Given the description of an element on the screen output the (x, y) to click on. 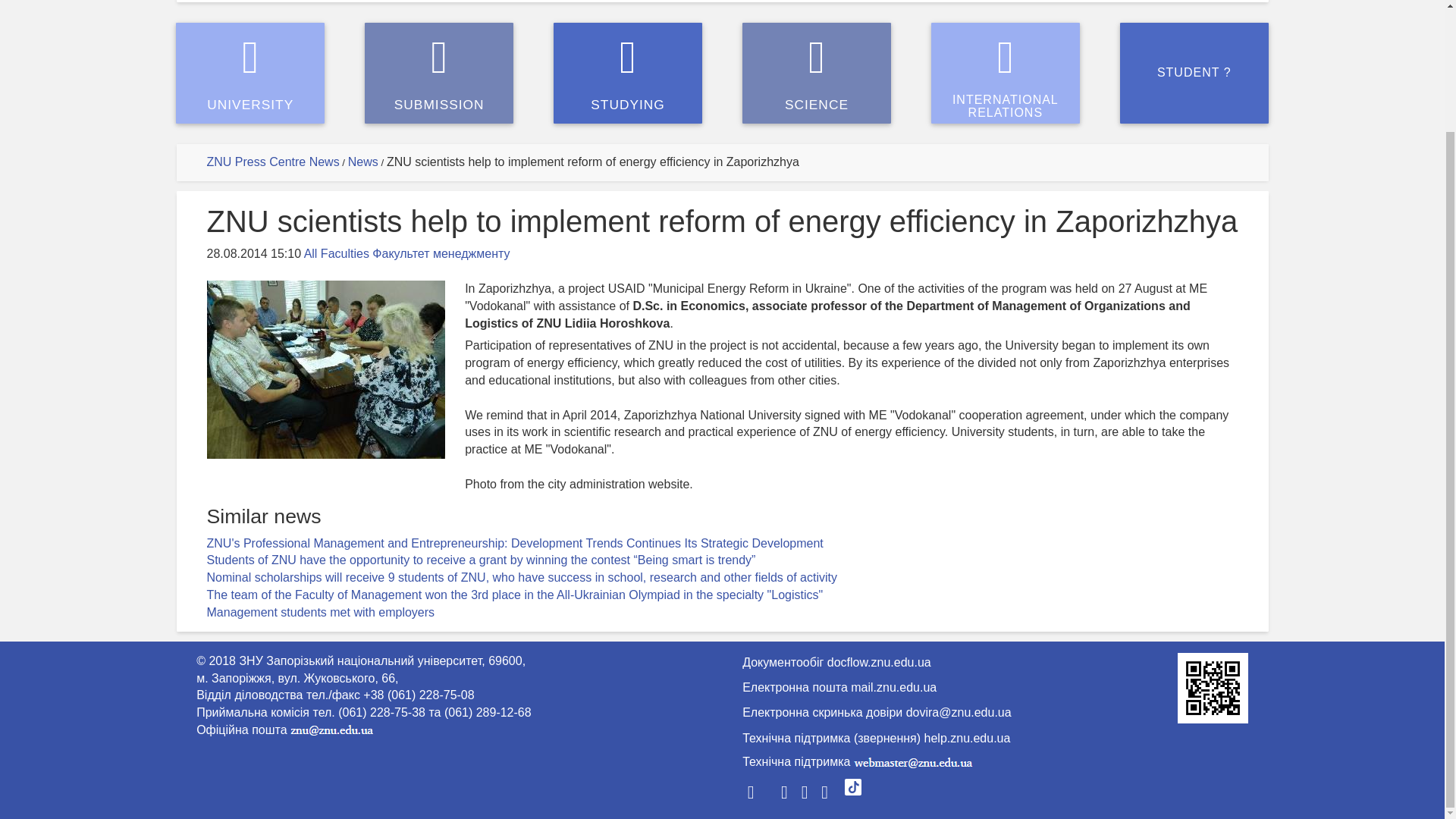
News (1005, 72)
STUDENT ? (362, 161)
Faculties (1193, 72)
STUDYING (344, 253)
docflow.znu.edu.ua (627, 72)
help.znu.edu.ua (879, 662)
SUBMISSION (967, 738)
mail.znu.edu.ua (439, 72)
SCIENCE (893, 688)
Management students met with employers (816, 72)
UNIVERSITY (319, 612)
